Given the description of an element on the screen output the (x, y) to click on. 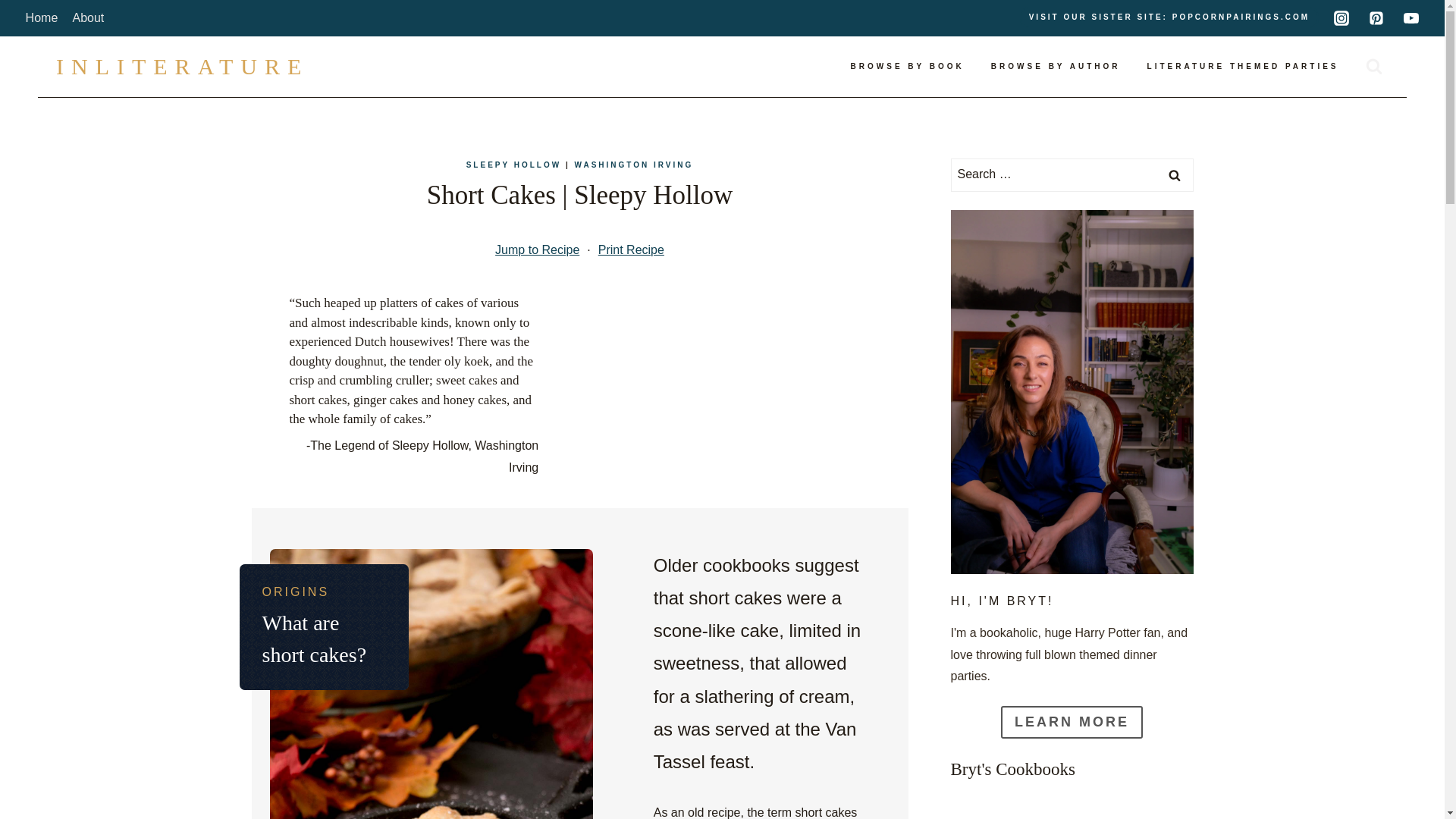
LITERATURE THEMED PARTIES (1243, 66)
BROWSE BY AUTHOR (1055, 66)
Home (41, 18)
INLITERATURE (182, 66)
Jump to Recipe (537, 250)
VISIT OUR SISTER SITE: POPCORNPAIRINGS.COM (1169, 16)
SLEEPY HOLLOW (513, 164)
WASHINGTON IRVING (634, 164)
Print Recipe (630, 250)
Jump to Recipe (537, 250)
Search (1174, 174)
About (88, 18)
Search (1174, 174)
BROWSE BY BOOK (906, 66)
